Given the description of an element on the screen output the (x, y) to click on. 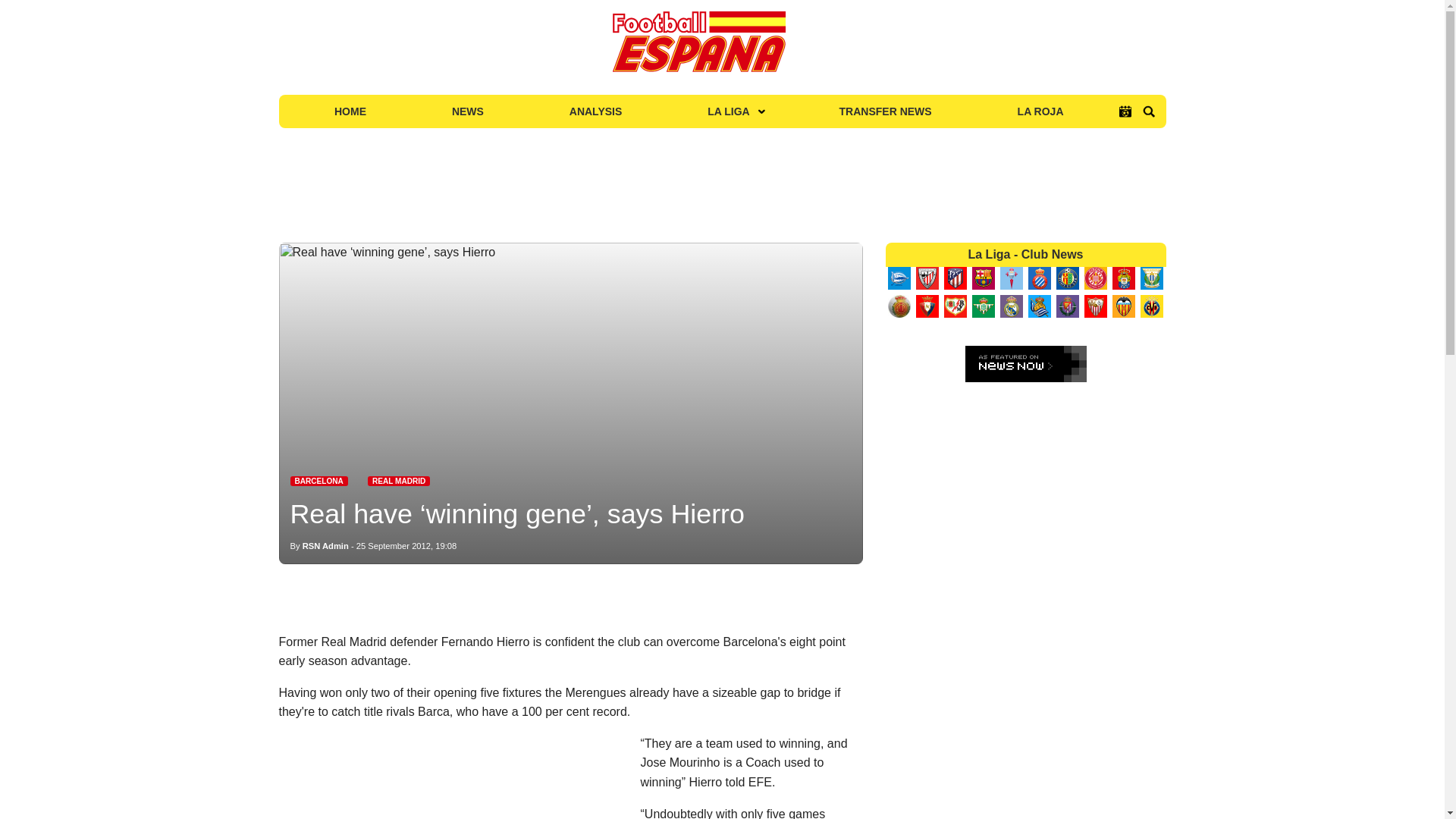
NEWS (468, 111)
TRANSFER NEWS (885, 111)
La Liga Fixtures (1125, 111)
LA LIGA (729, 111)
Latest Barcelona News (318, 480)
LA ROJA (1040, 111)
ANALYSIS (595, 111)
HOME (350, 111)
Search (1147, 111)
Latest Real Madrid News (398, 480)
